Given the description of an element on the screen output the (x, y) to click on. 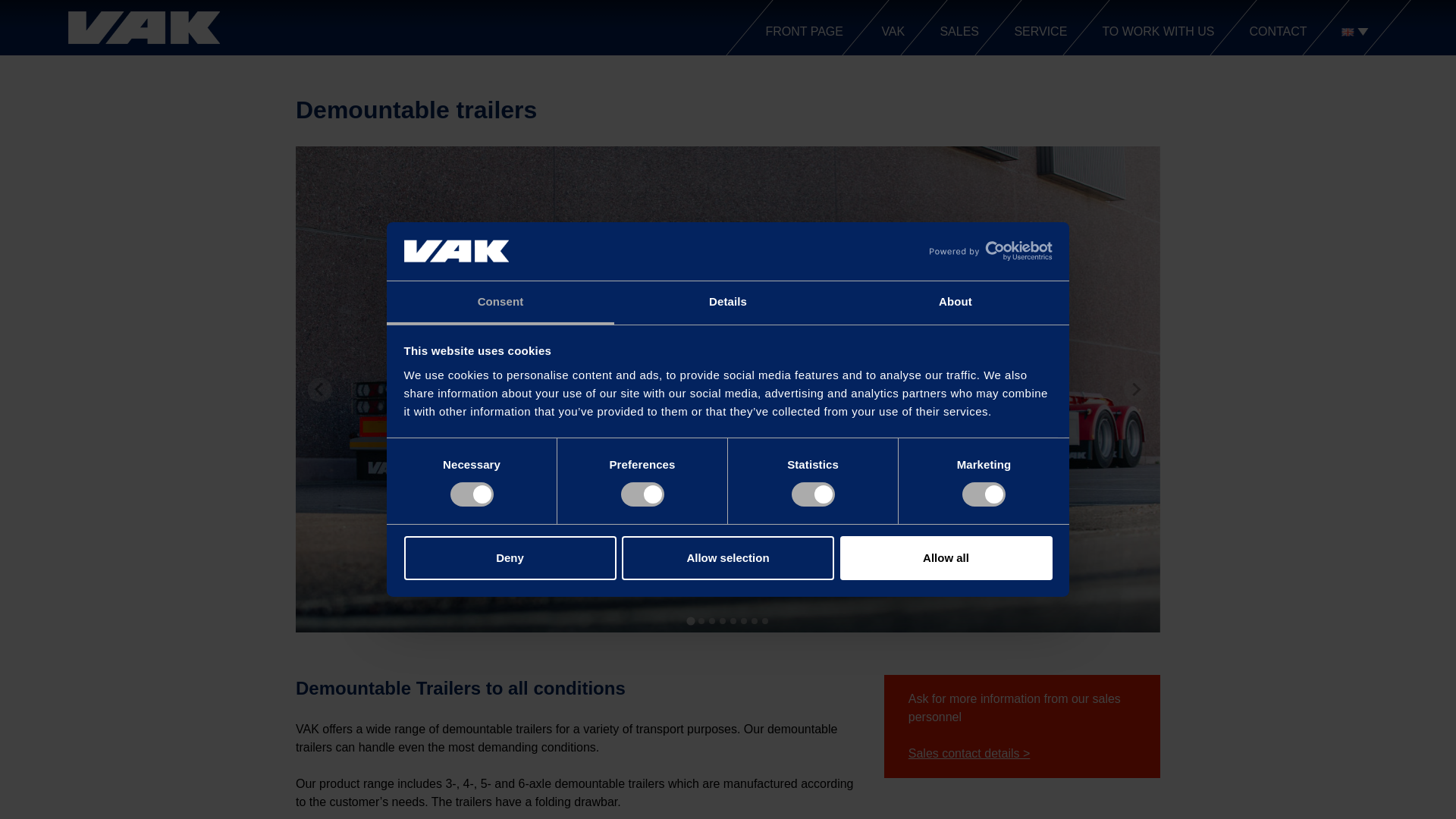
Details (727, 302)
About (954, 302)
Consent (500, 302)
